Given the description of an element on the screen output the (x, y) to click on. 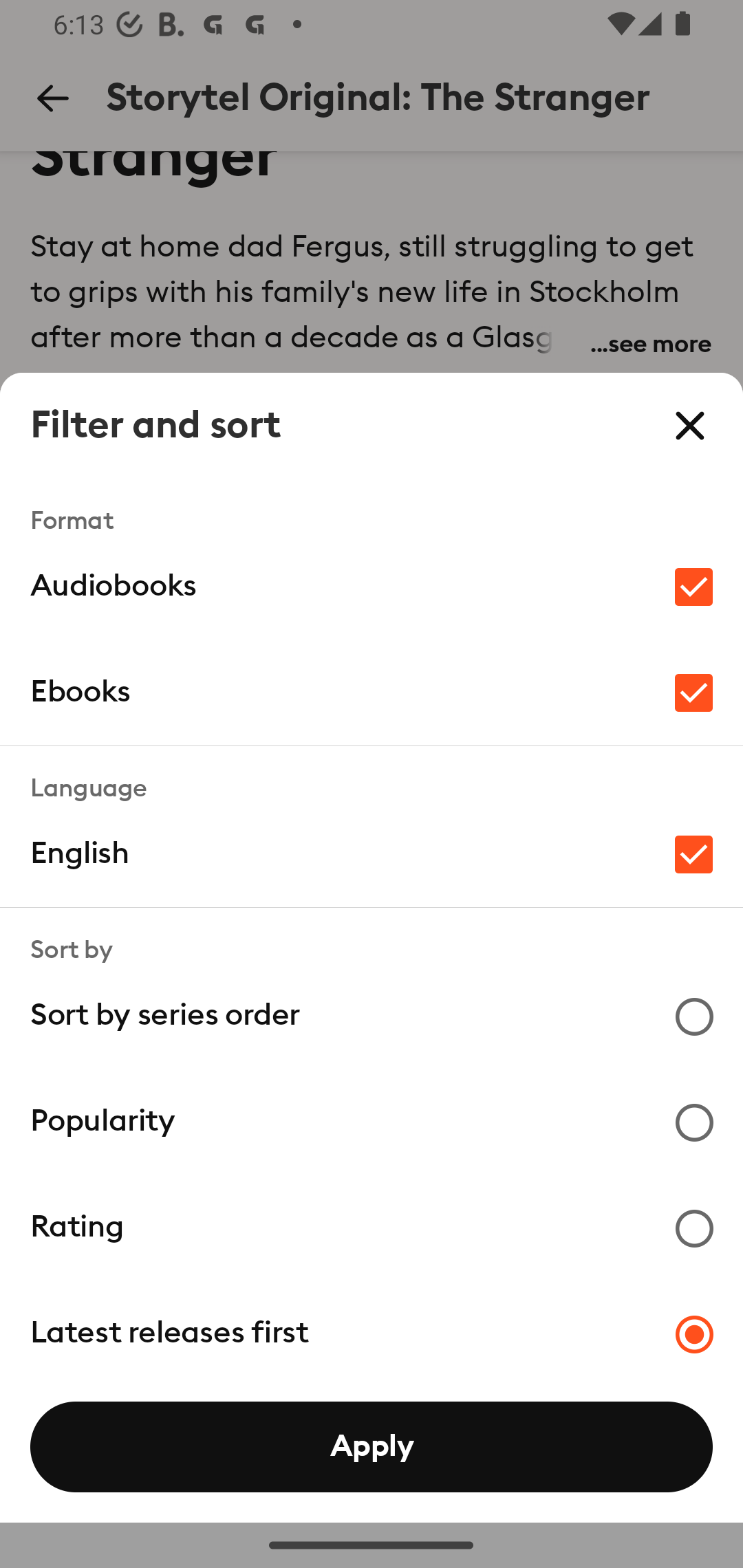
English (371, 854)
Sort by series order (371, 1015)
Popularity (371, 1121)
Rating (371, 1227)
Latest releases first (371, 1333)
Apply (371, 1446)
